Given the description of an element on the screen output the (x, y) to click on. 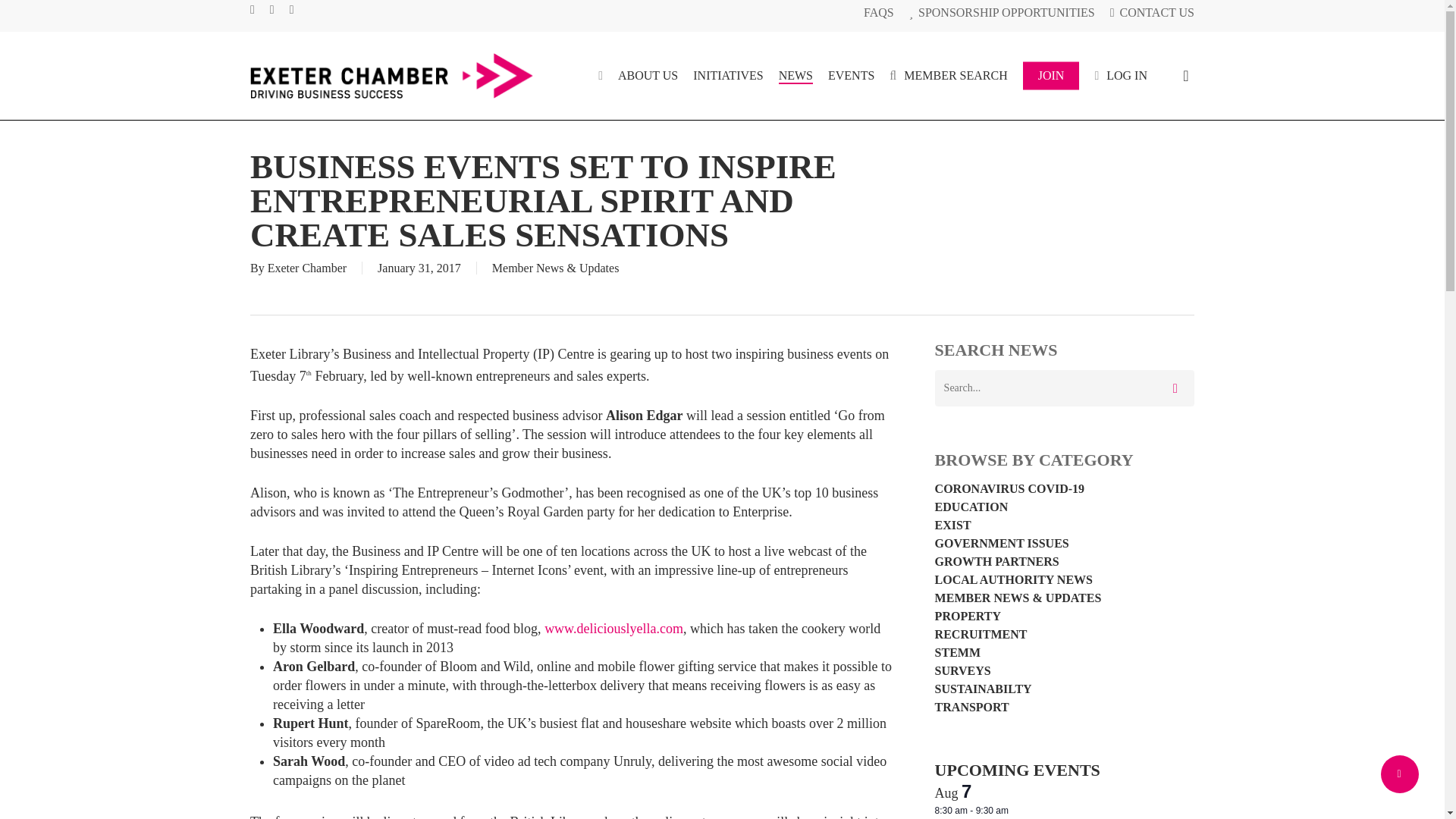
EVENTS (851, 75)
INITIATIVES (727, 75)
Event Series (1016, 809)
SPONSORSHIP OPPORTUNITIES (1001, 12)
Exeter Chamber (306, 267)
FAQS (878, 12)
www.deliciouslyella.com (613, 628)
EXIST (1063, 525)
CORONAVIRUS COVID-19 (1063, 489)
Event Series (1016, 810)
Search for: (1063, 388)
MEMBER SEARCH (948, 75)
LOG IN (1120, 75)
CONTACT US (1151, 12)
NEWS (795, 75)
